Given the description of an element on the screen output the (x, y) to click on. 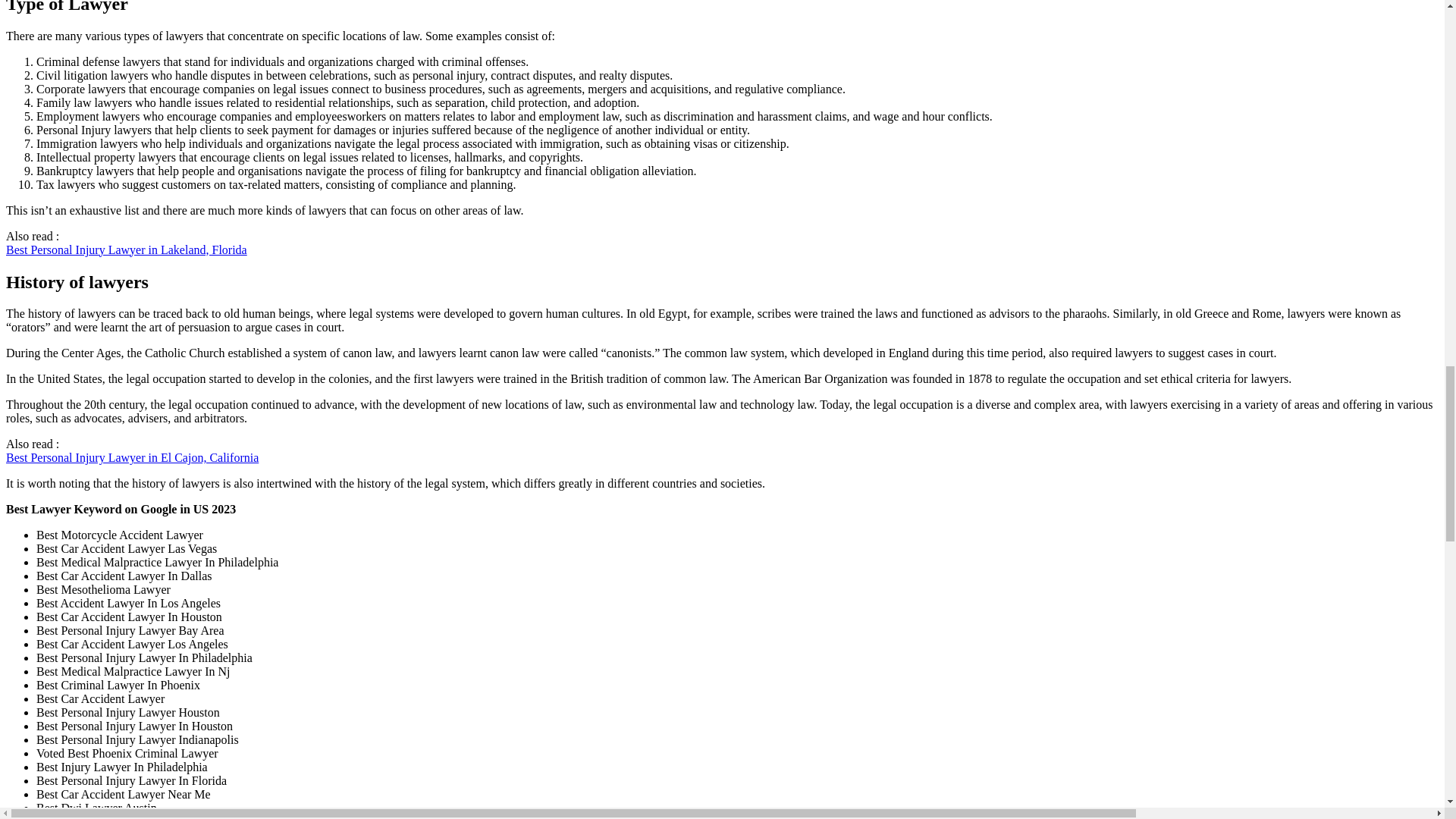
Best Personal Injury Lawyer in El Cajon, California (132, 457)
Best Personal Injury Lawyer in Lakeland, Florida (126, 249)
